Given the description of an element on the screen output the (x, y) to click on. 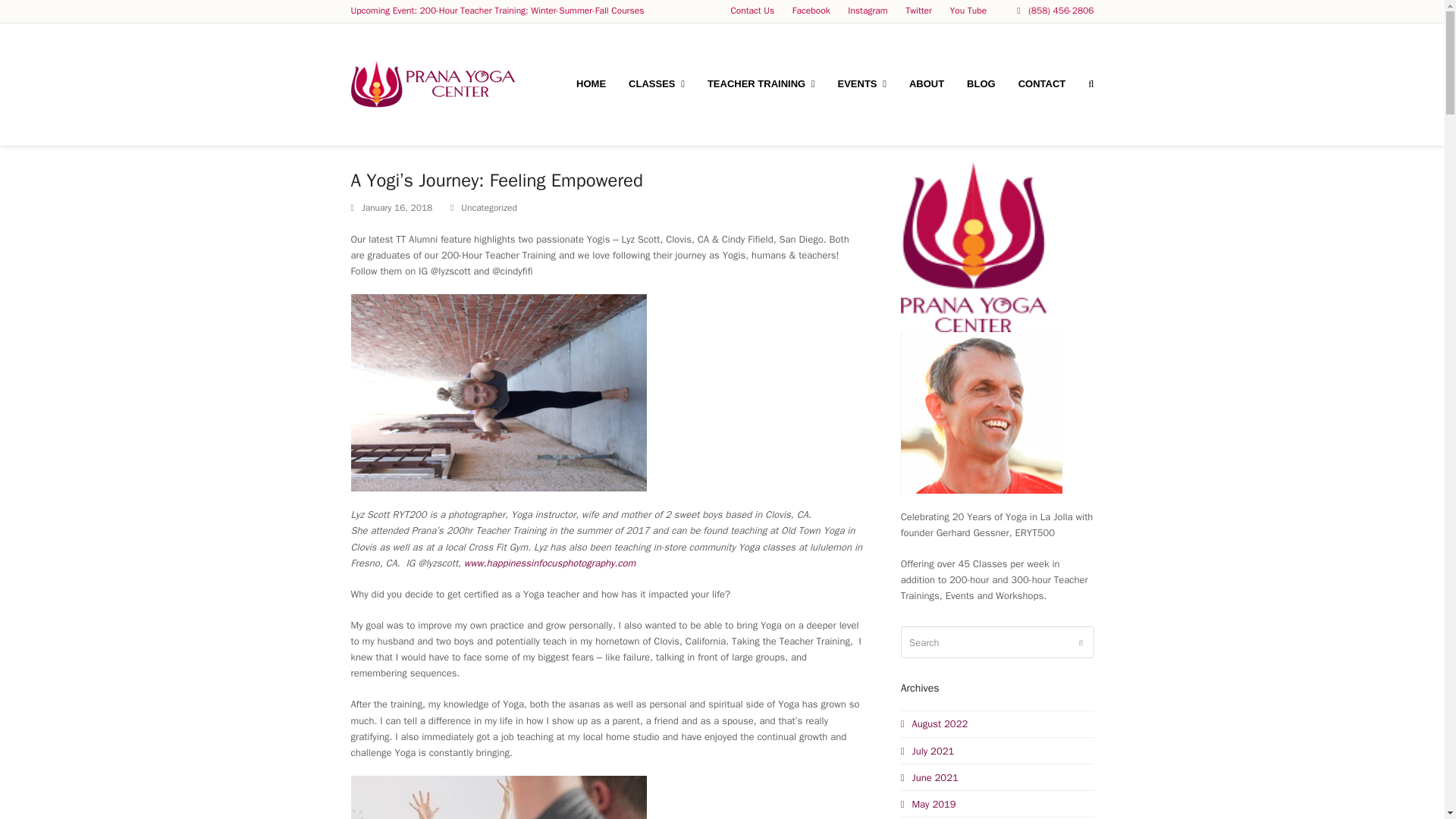
You Tube (968, 10)
CLASSES (656, 84)
www.happinessinfocusphotography.com (549, 562)
CONTACT (1042, 84)
Facebook (810, 10)
ABOUT (926, 84)
TEACHER TRAINING (761, 84)
HOME (590, 84)
Contact Us (752, 10)
BLOG (981, 84)
